Given the description of an element on the screen output the (x, y) to click on. 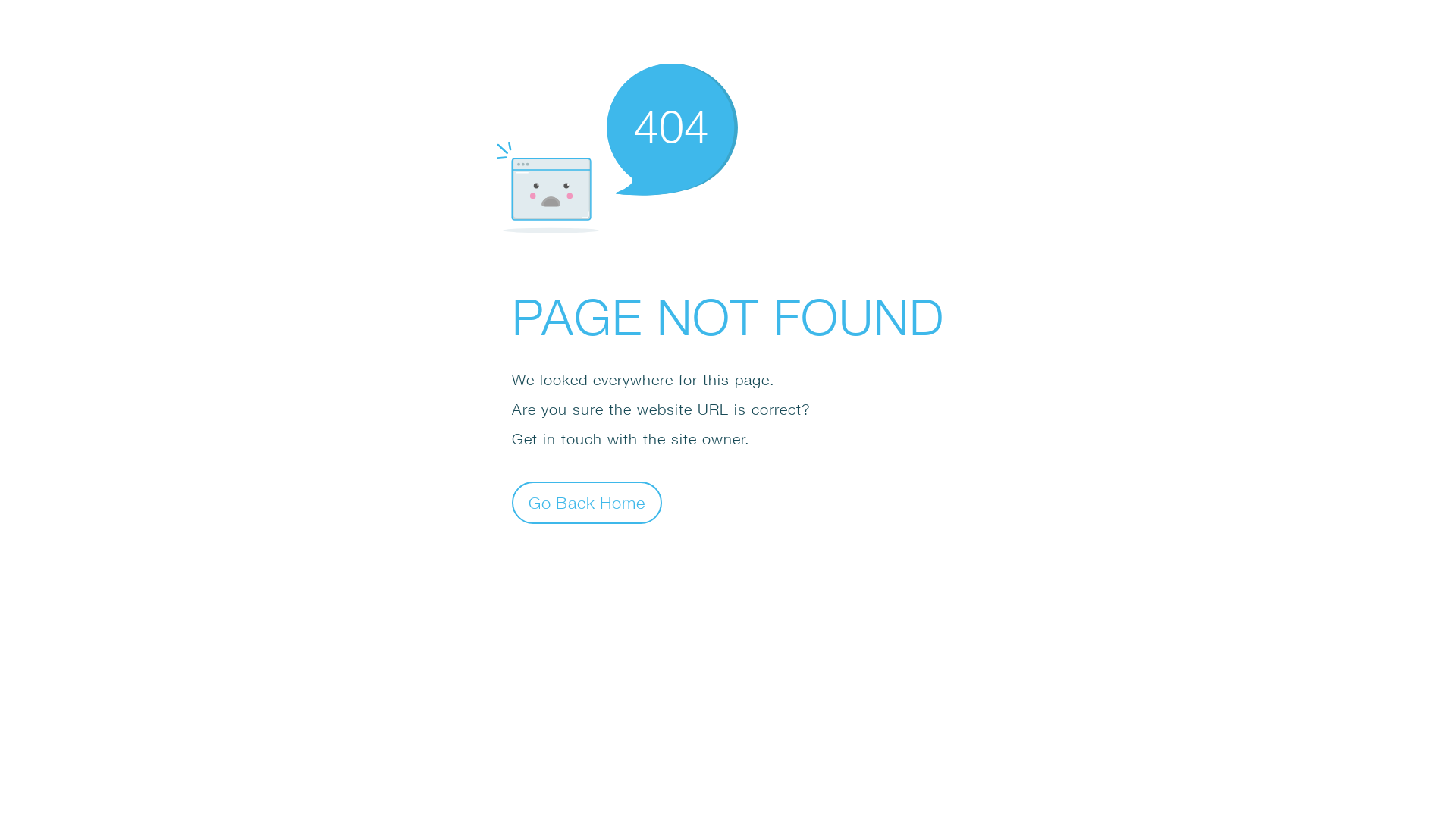
Go Back Home Element type: text (586, 502)
